Given the description of an element on the screen output the (x, y) to click on. 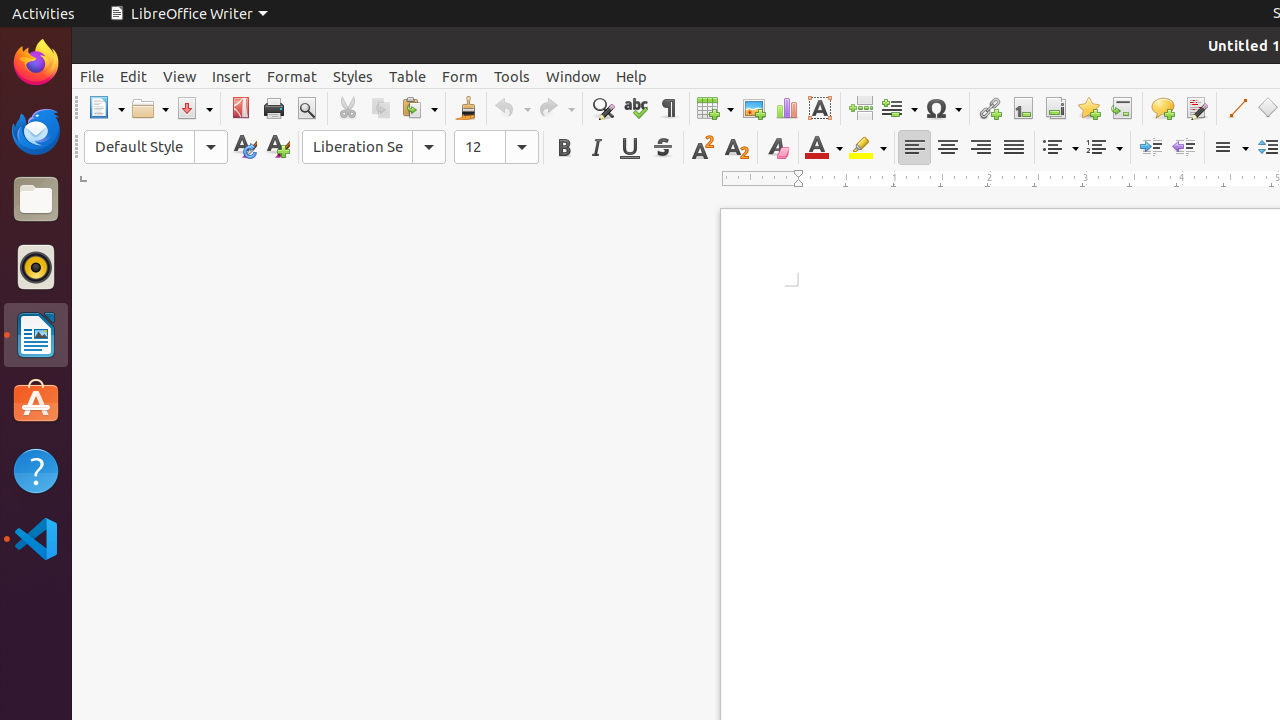
Symbol Element type: push-button (943, 108)
Right Element type: toggle-button (980, 147)
Ubuntu Software Element type: push-button (36, 402)
PDF Element type: push-button (240, 108)
Styles Element type: menu (353, 76)
